Given the description of an element on the screen output the (x, y) to click on. 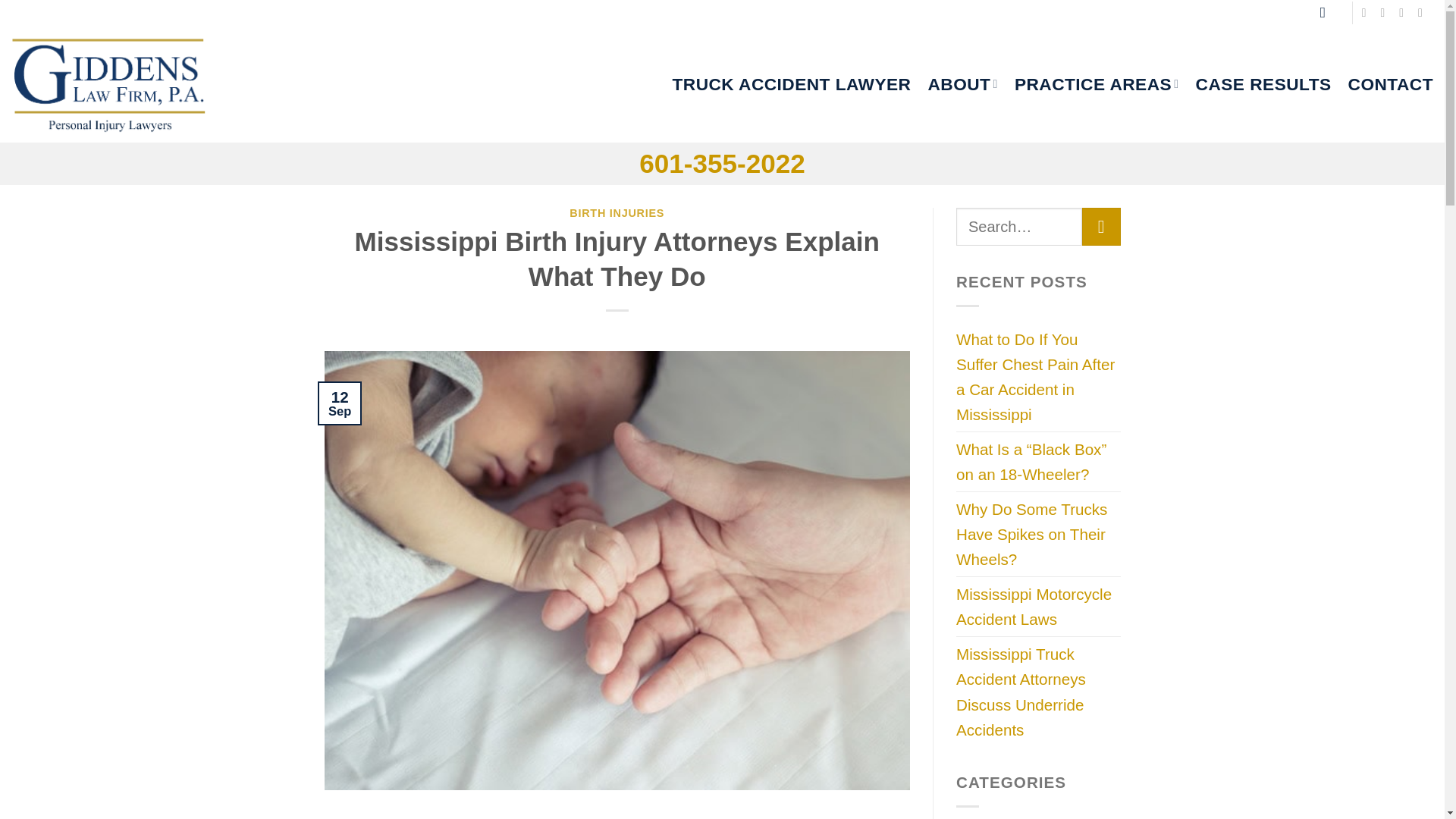
BIRTH INJURIES (616, 213)
CONTACT (1390, 84)
CASE RESULTS (1263, 84)
TRUCK ACCIDENT LAWYER (791, 84)
ABOUT (962, 84)
601-355-2022 (722, 163)
PRACTICE AREAS (1096, 84)
